Given the description of an element on the screen output the (x, y) to click on. 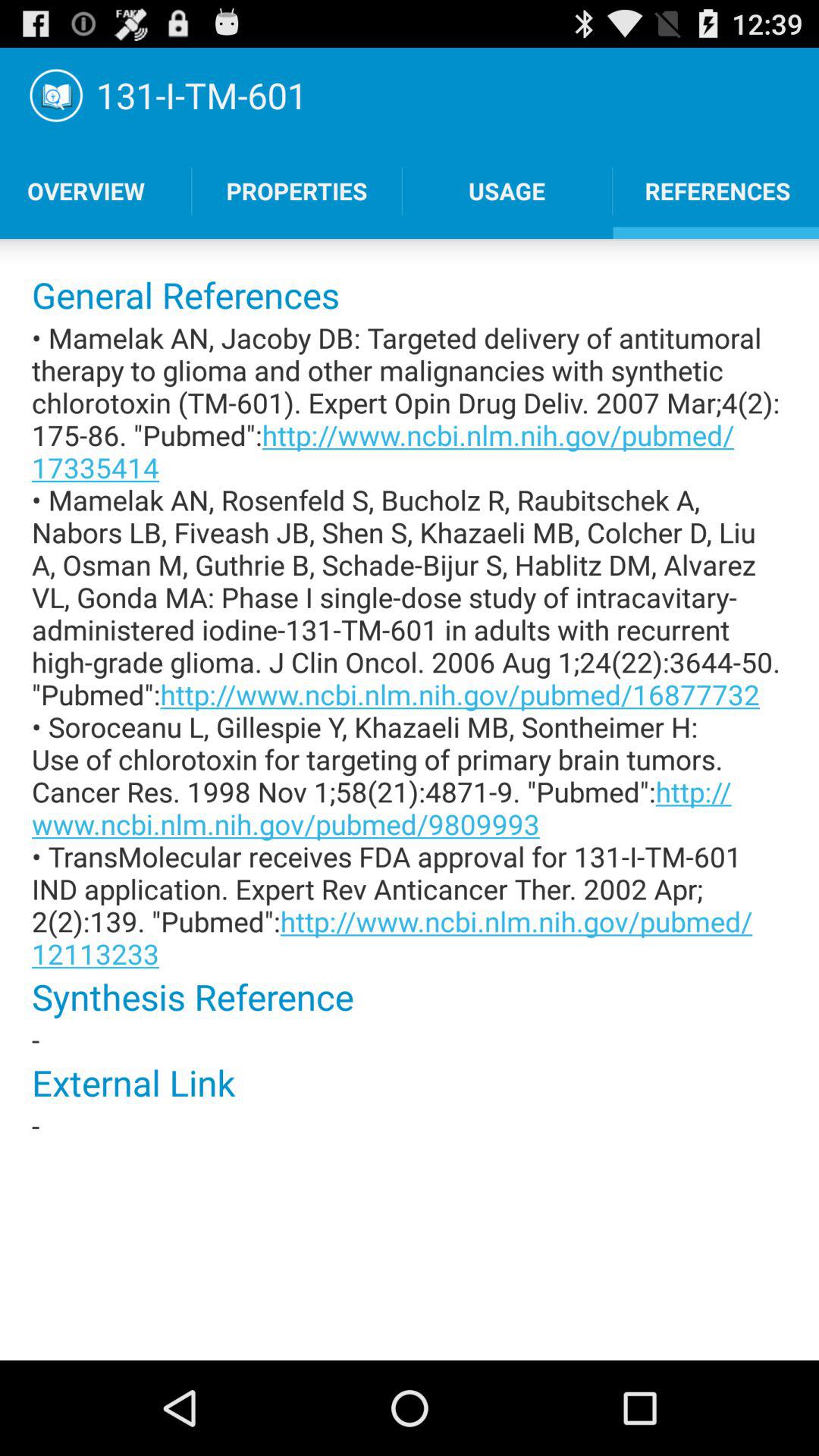
flip to the mamelak an jacoby (409, 645)
